Given the description of an element on the screen output the (x, y) to click on. 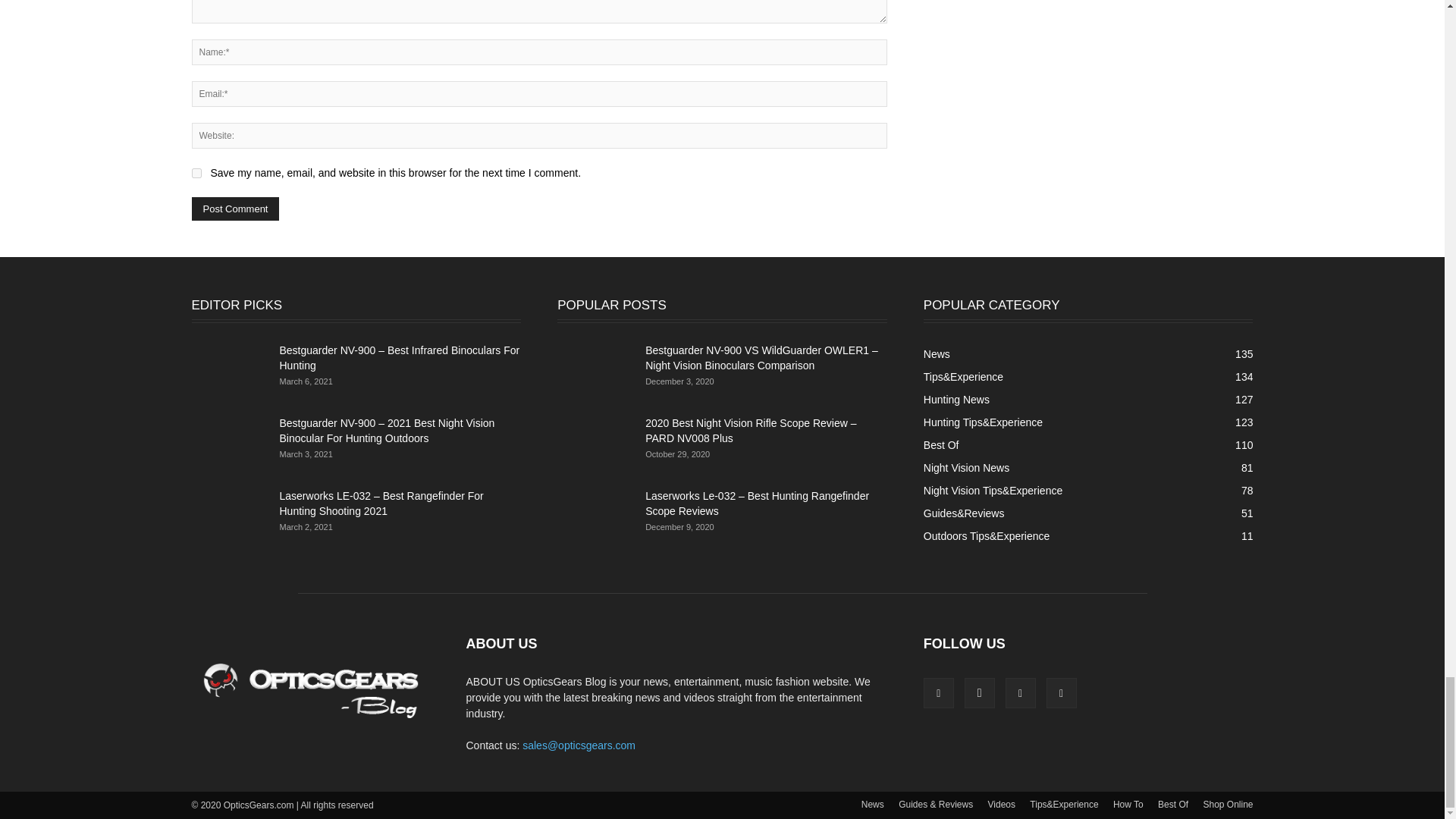
Post Comment (234, 208)
yes (195, 173)
